Given the description of an element on the screen output the (x, y) to click on. 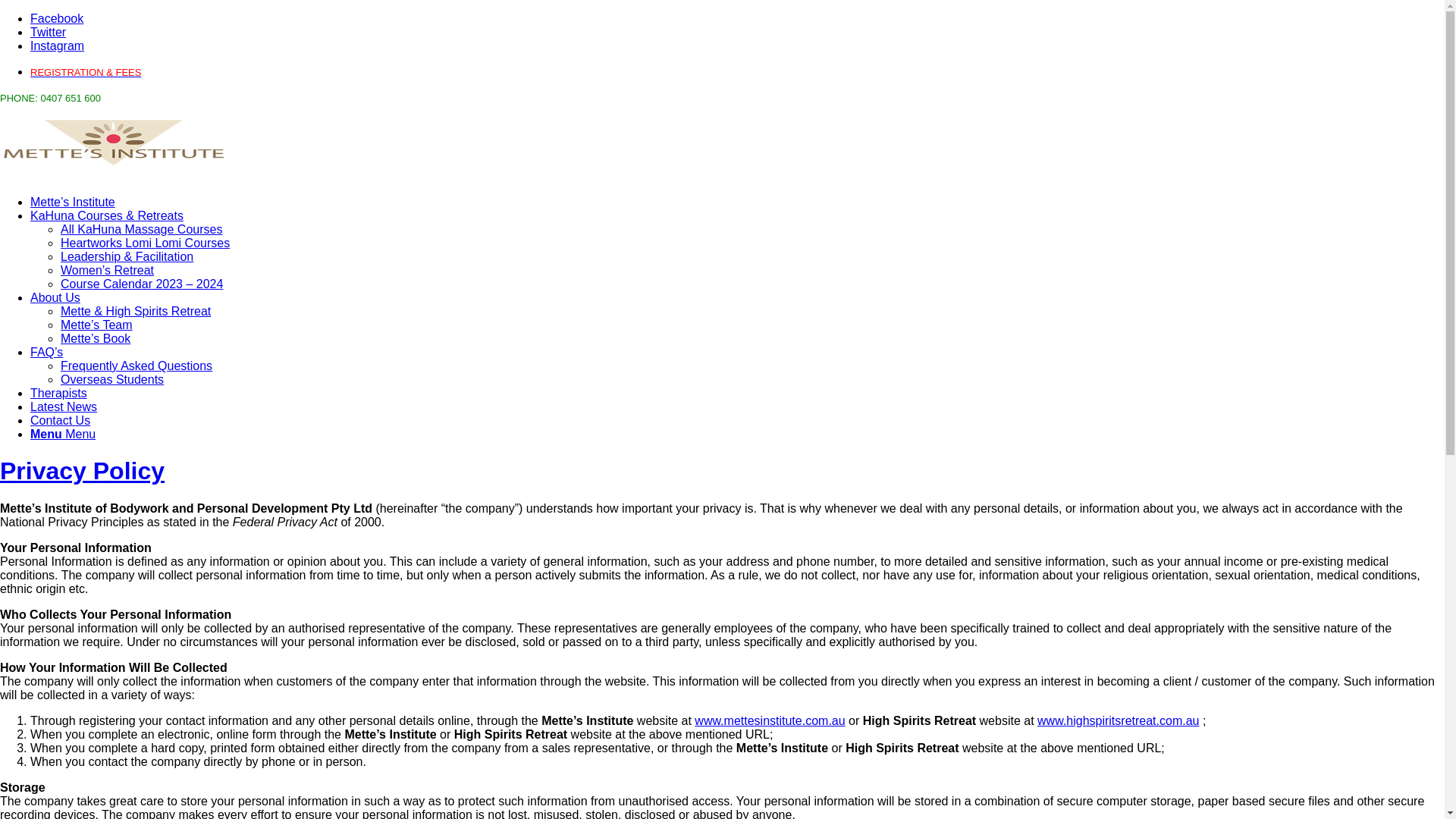
Facebook Element type: text (56, 18)
REGISTRATION & FEES Element type: text (85, 71)
Contact Us Element type: text (60, 420)
Twitter Element type: text (47, 31)
Leadership & Facilitation Element type: text (126, 256)
www.mettesinstitute.com.au Element type: text (769, 720)
Mette & High Spirits Retreat Element type: text (135, 310)
Privacy Policy Element type: text (82, 470)
Instagram Element type: text (57, 45)
Latest News Element type: text (63, 406)
Therapists Element type: text (58, 392)
KaHuna Courses & Retreats Element type: text (106, 215)
All KaHuna Massage Courses Element type: text (141, 228)
Overseas Students Element type: text (111, 379)
www.highspiritsretreat.com.au Element type: text (1117, 720)
About Us Element type: text (55, 297)
Menu Menu Element type: text (62, 433)
Frequently Asked Questions Element type: text (136, 365)
Heartworks Lomi Lomi Courses Element type: text (144, 242)
